Given the description of an element on the screen output the (x, y) to click on. 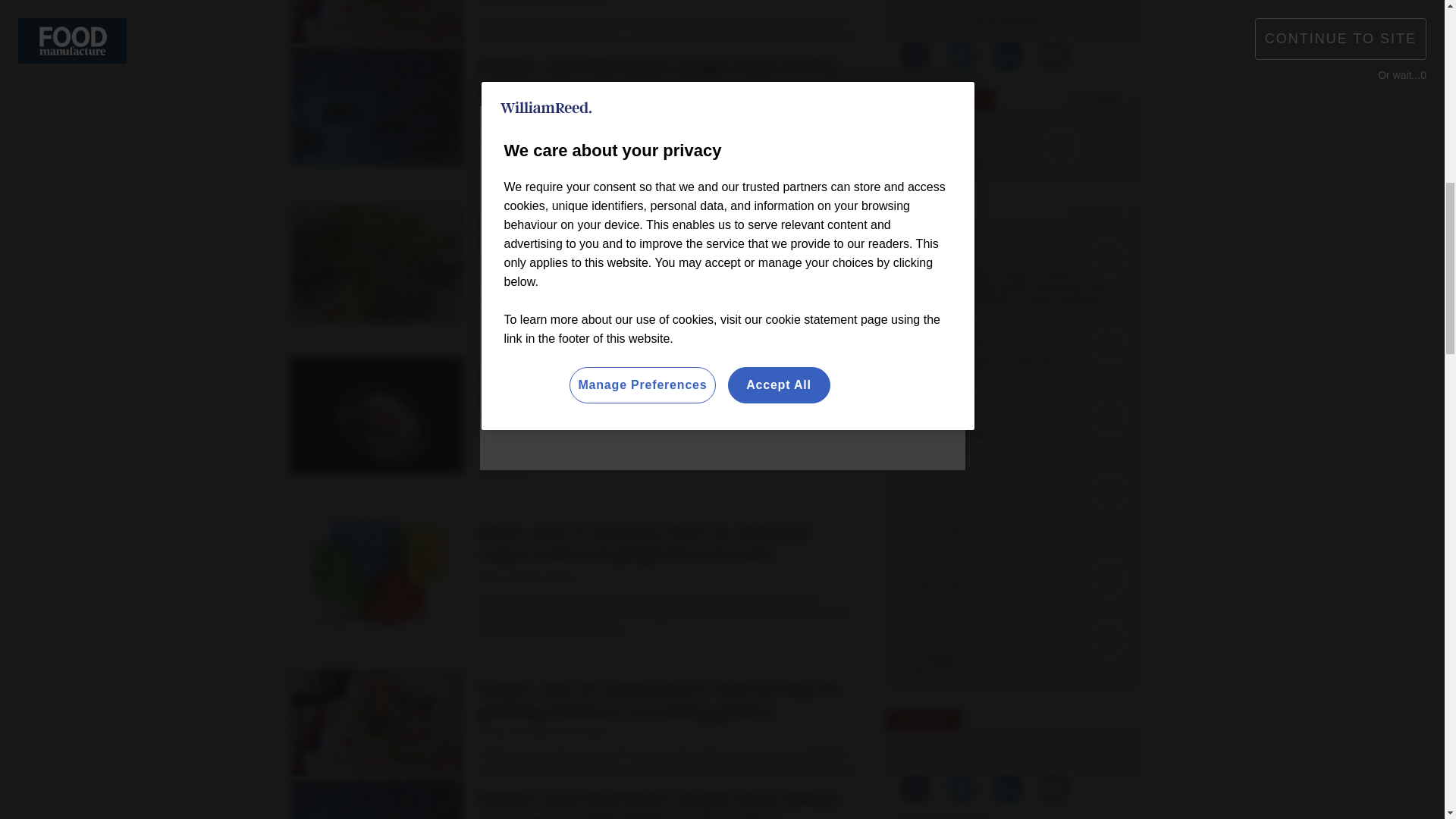
3rd party ad content (1273, 79)
3rd party ad content (570, 748)
3rd party ad content (1020, 774)
3rd party ad content (169, 79)
